Given the description of an element on the screen output the (x, y) to click on. 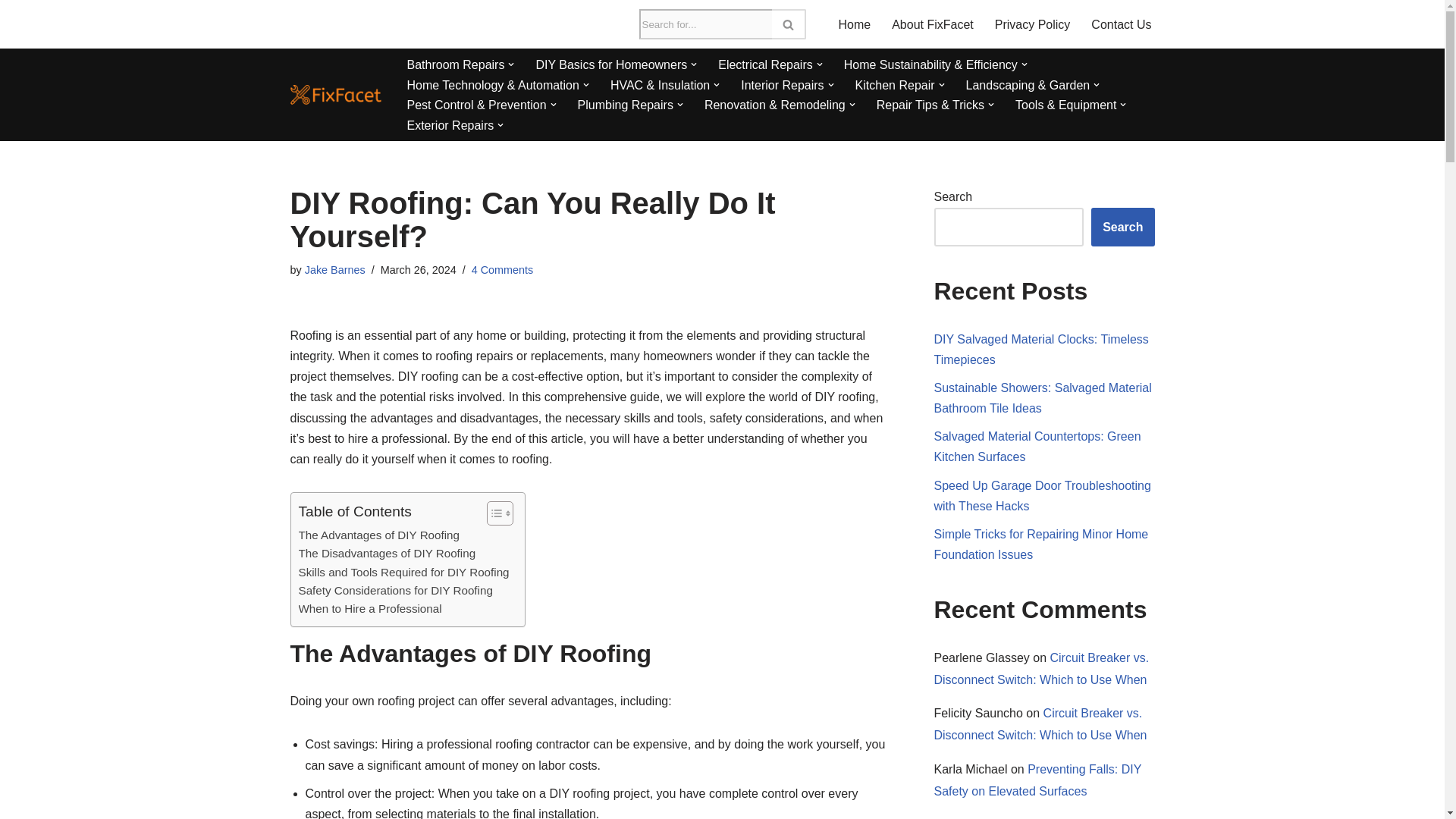
Skip to content (11, 31)
Safety Considerations for DIY Roofing (395, 590)
DIY Basics for Homeowners (611, 64)
Privacy Policy (1032, 24)
When to Hire a Professional (370, 608)
Contact Us (1120, 24)
The Advantages of DIY Roofing (379, 535)
Interior Repairs (782, 85)
Home (854, 24)
Bathroom Repairs (454, 64)
